Given the description of an element on the screen output the (x, y) to click on. 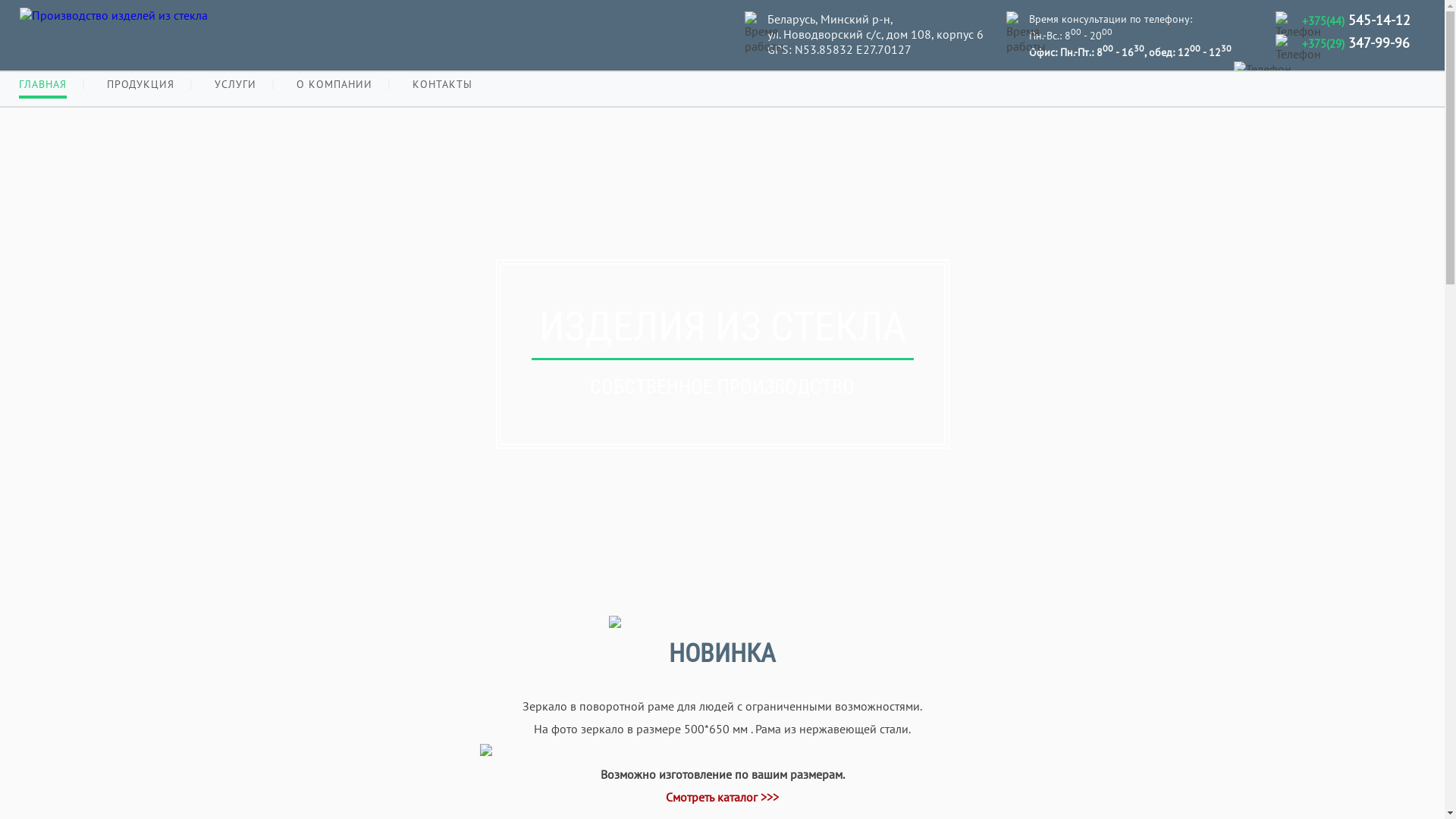
+375(29) 347-99-96 Element type: text (1355, 42)
+375(44) 545-14-12 Element type: text (1356, 19)
